Given the description of an element on the screen output the (x, y) to click on. 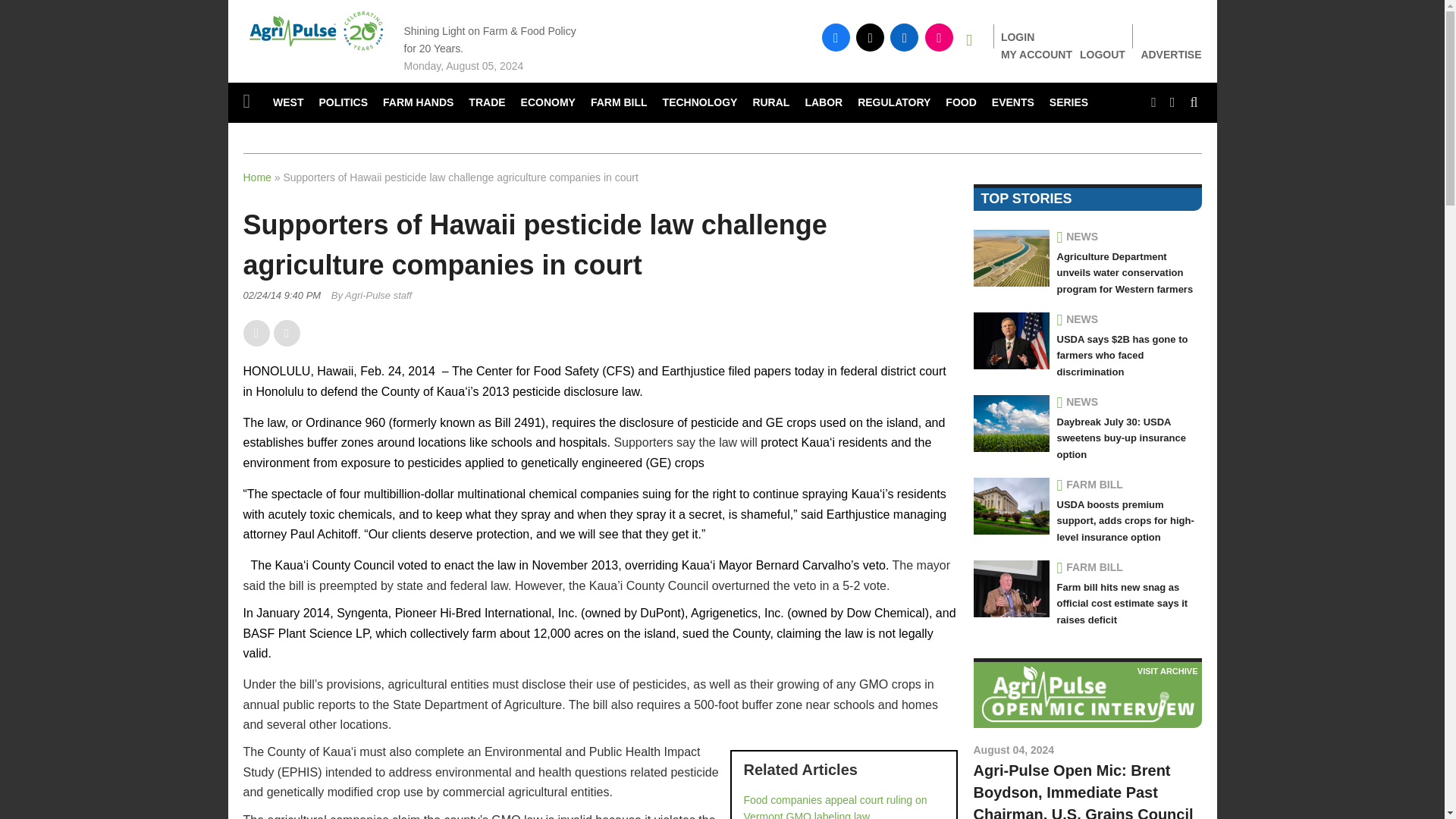
WEST (287, 102)
FOOD (960, 102)
EVENTS (1013, 102)
ECONOMY (548, 102)
LOGIN (1017, 37)
MY ACCOUNT (1036, 54)
FARM HANDS (418, 102)
LOGOUT (1102, 54)
REGULATORY (893, 102)
POLITICS (343, 102)
